Given the description of an element on the screen output the (x, y) to click on. 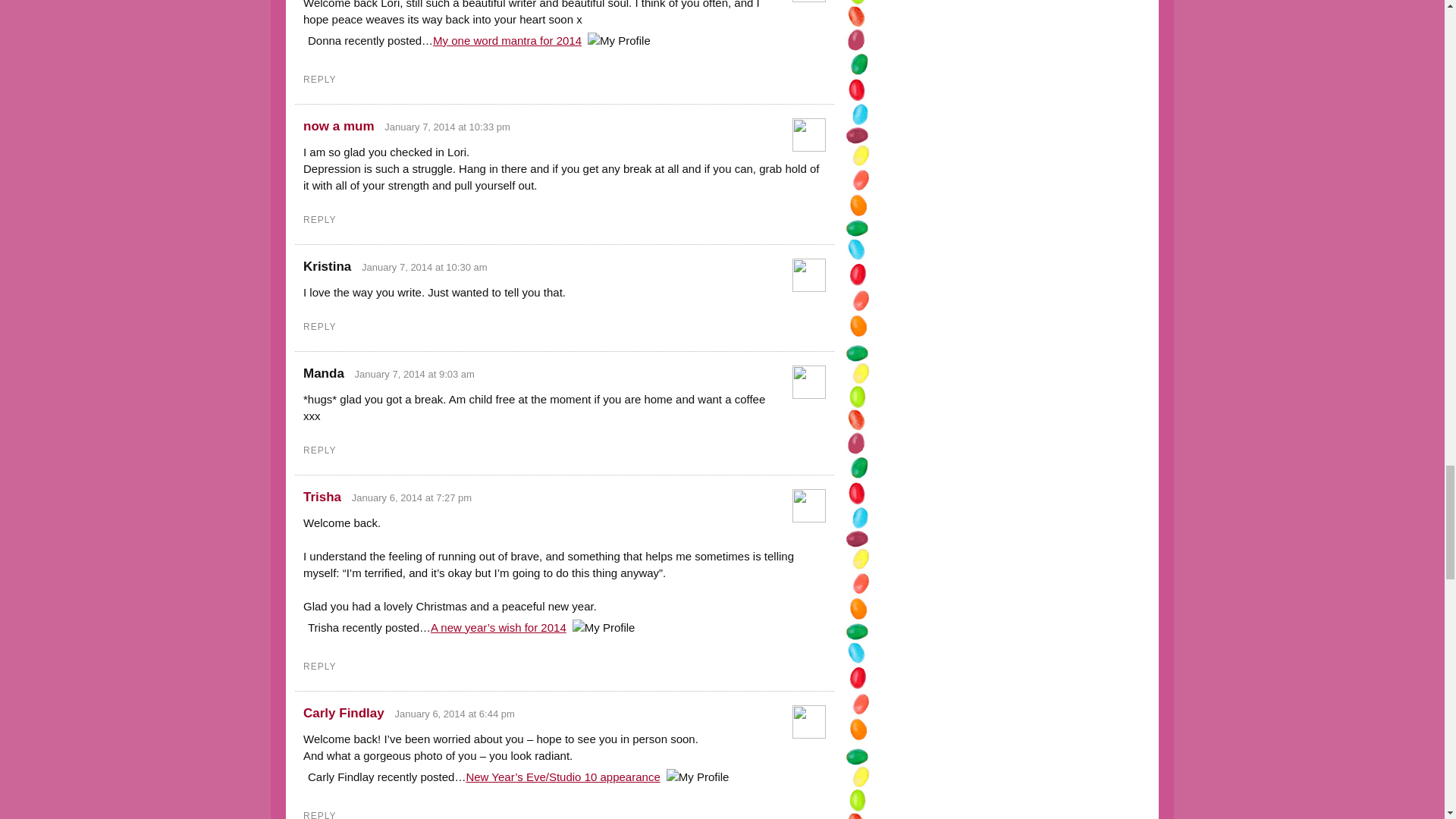
Permalink to this comment (424, 266)
Permalink to this comment (447, 126)
Permalink to this comment (411, 497)
Permalink to this comment (454, 713)
Permalink to this comment (414, 374)
